Given the description of an element on the screen output the (x, y) to click on. 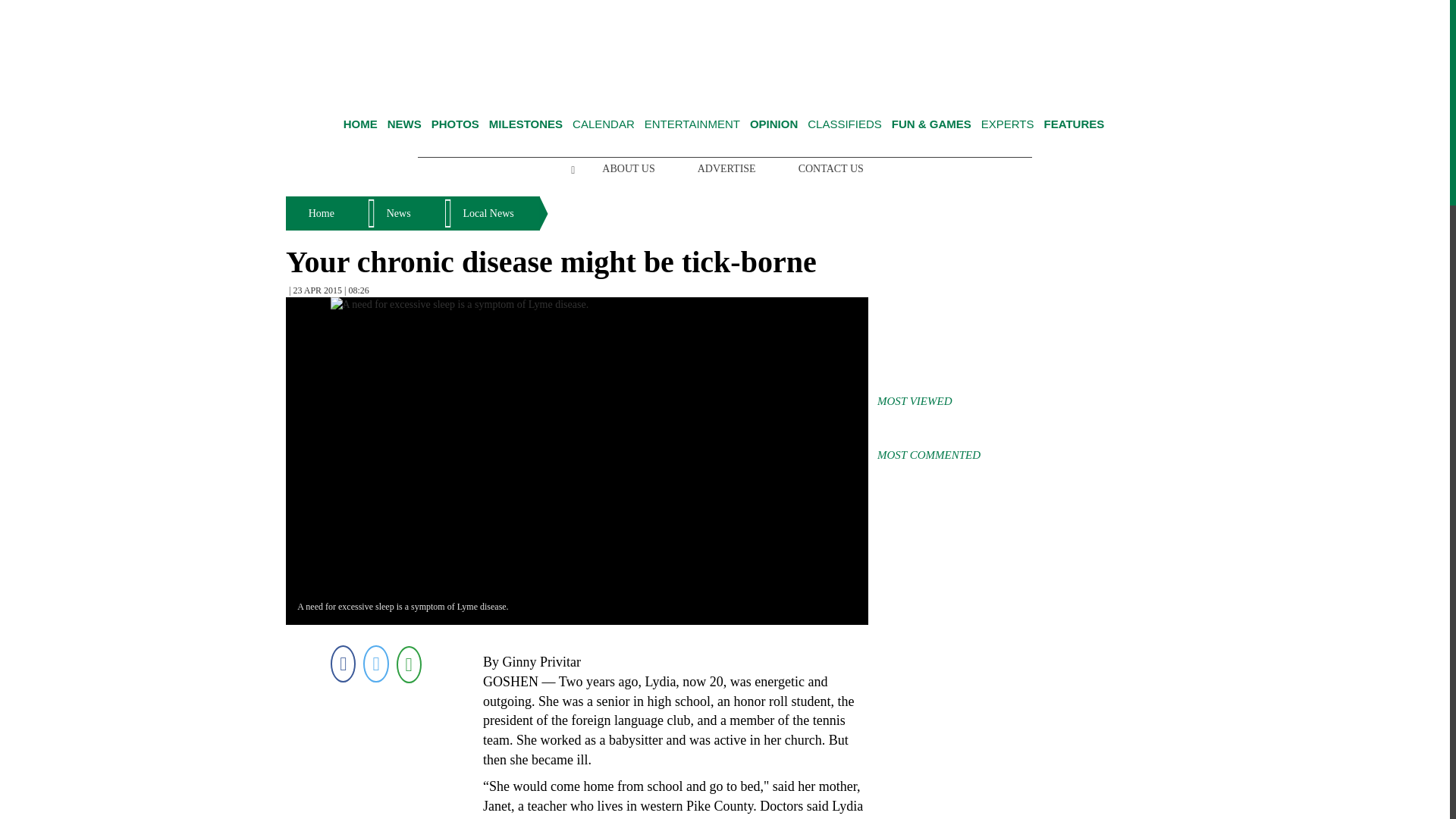
CLASSIFIEDS (845, 123)
News (404, 123)
Photos (454, 123)
CALENDAR (603, 123)
MILESTONES (525, 123)
Home (360, 123)
OPINION (773, 123)
NEWS (404, 123)
HOME (360, 123)
Milestones (525, 123)
